Given the description of an element on the screen output the (x, y) to click on. 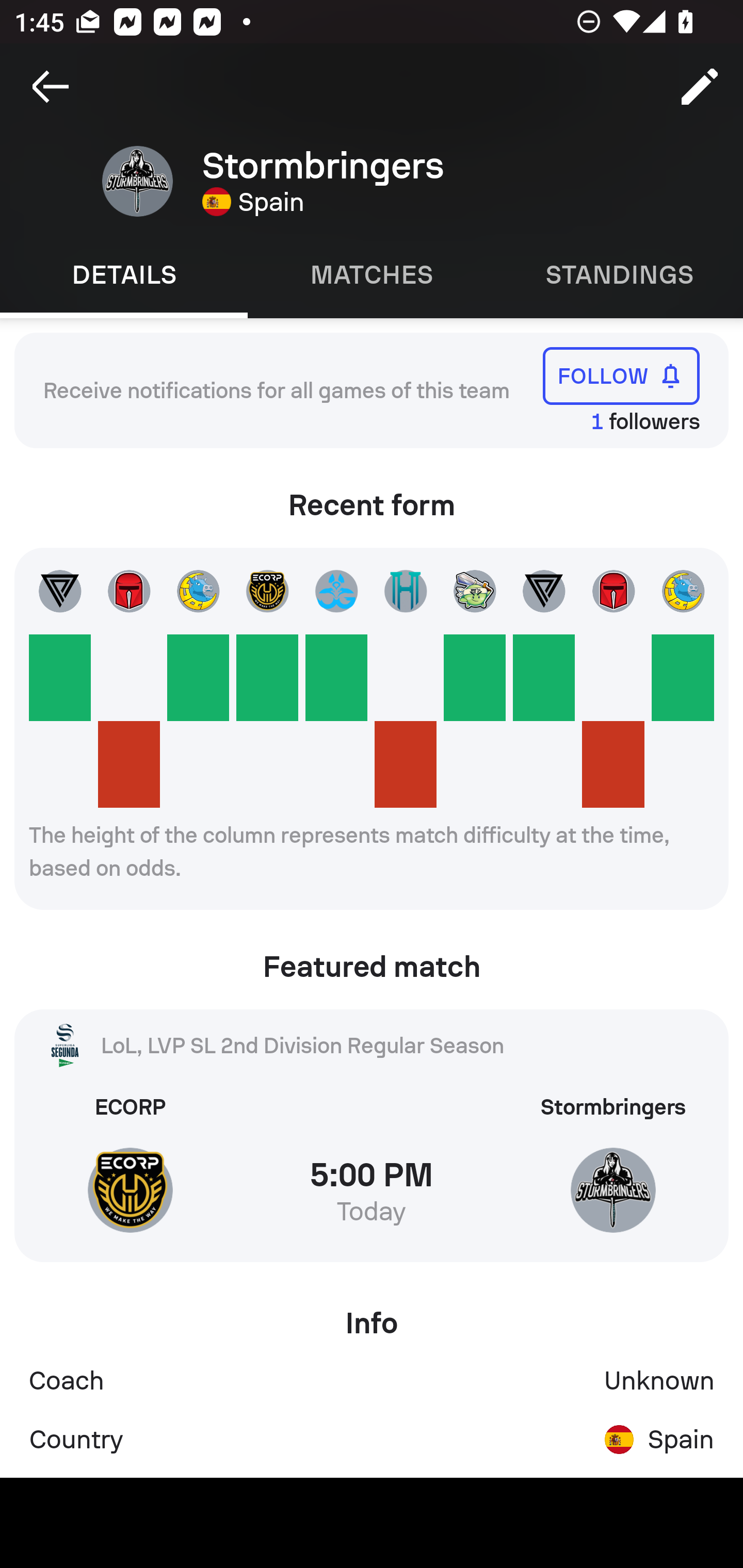
Navigate up (50, 86)
Edit (699, 86)
Matches MATCHES (371, 275)
Standings STANDINGS (619, 275)
FOLLOW (621, 375)
